Given the description of an element on the screen output the (x, y) to click on. 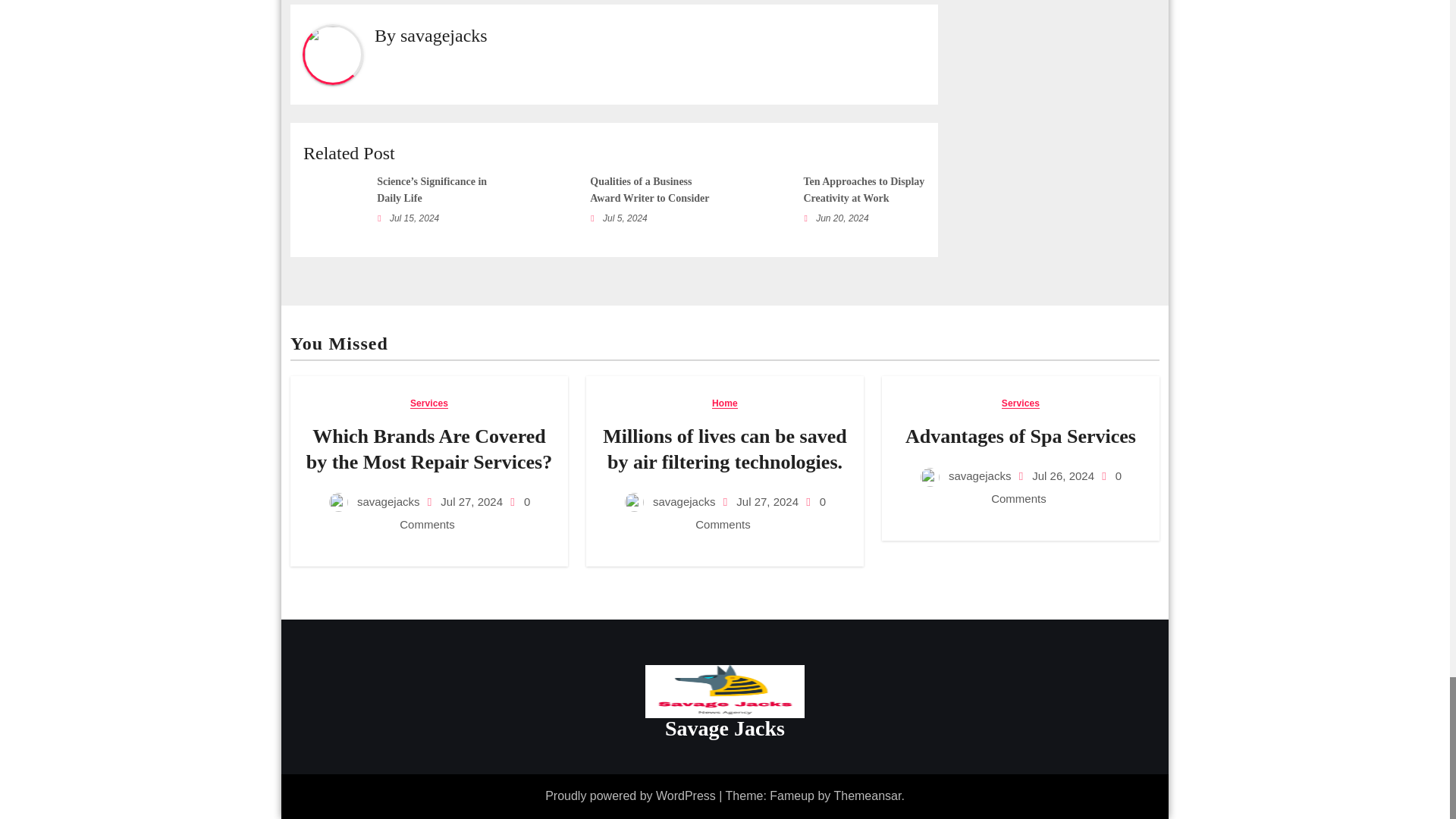
Permalink to: Advantages of Spa Services (1020, 436)
Jul 5, 2024 (624, 217)
savagejacks (443, 35)
Jul 15, 2024 (414, 217)
Permalink to: Ten Approaches to Display Creativity at Work (863, 189)
Qualities of a Business Award Writer to Consider (649, 189)
